Given the description of an element on the screen output the (x, y) to click on. 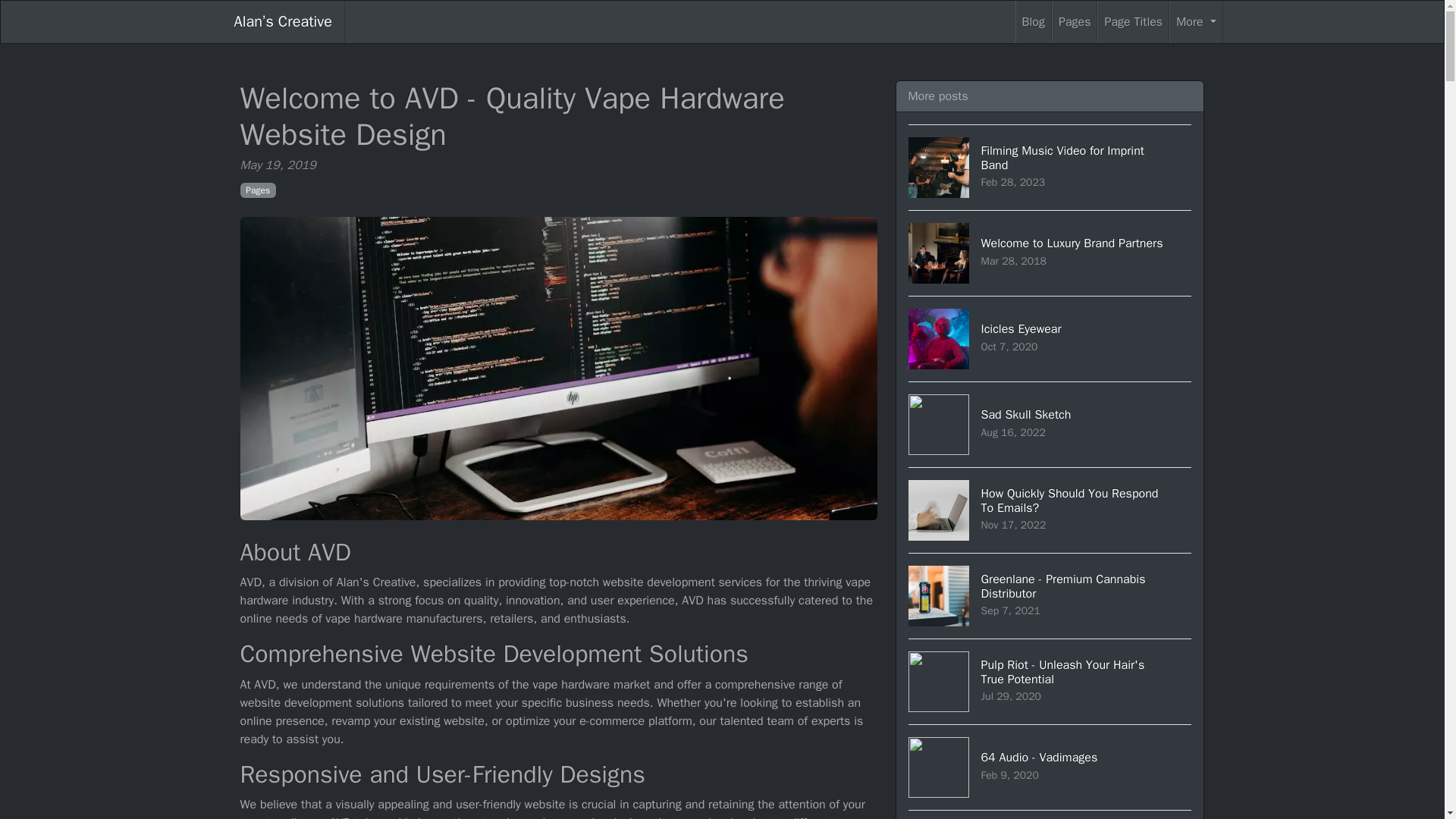
Page Titles (1050, 680)
Pages (1050, 509)
Pages (1133, 21)
